Given the description of an element on the screen output the (x, y) to click on. 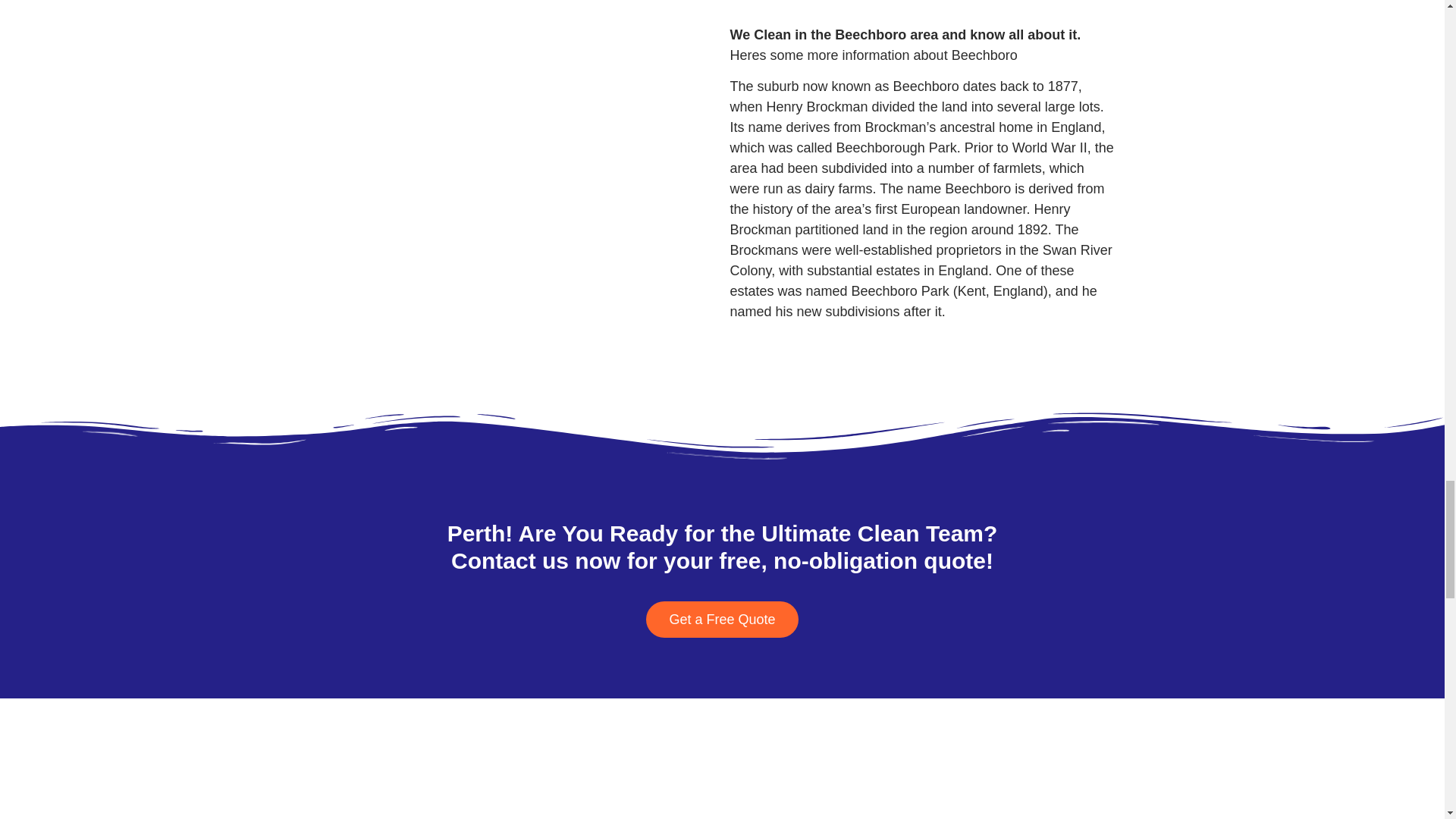
Beechboro (514, 76)
